Given the description of an element on the screen output the (x, y) to click on. 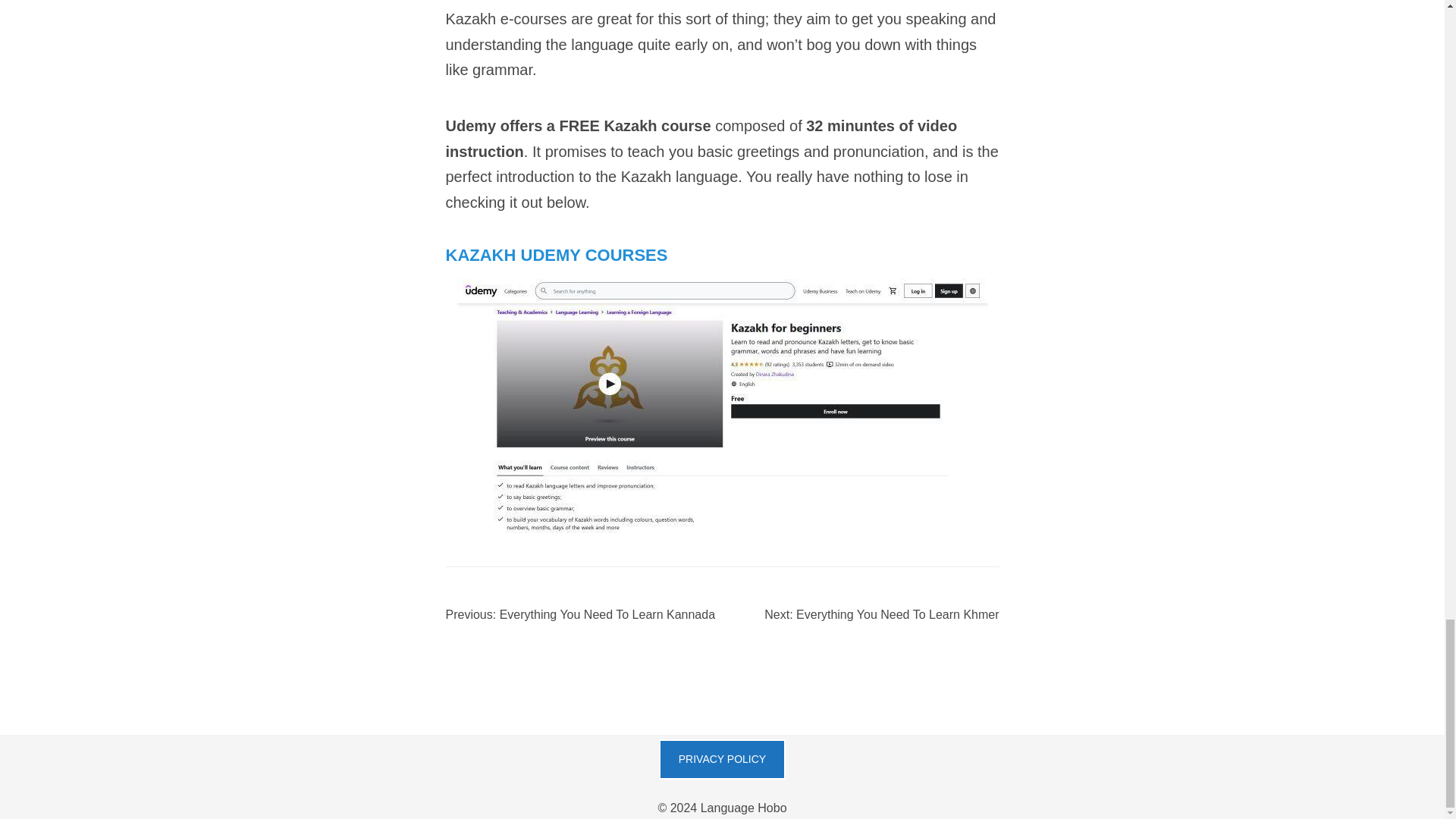
Udemy Kazakh (722, 287)
